Given the description of an element on the screen output the (x, y) to click on. 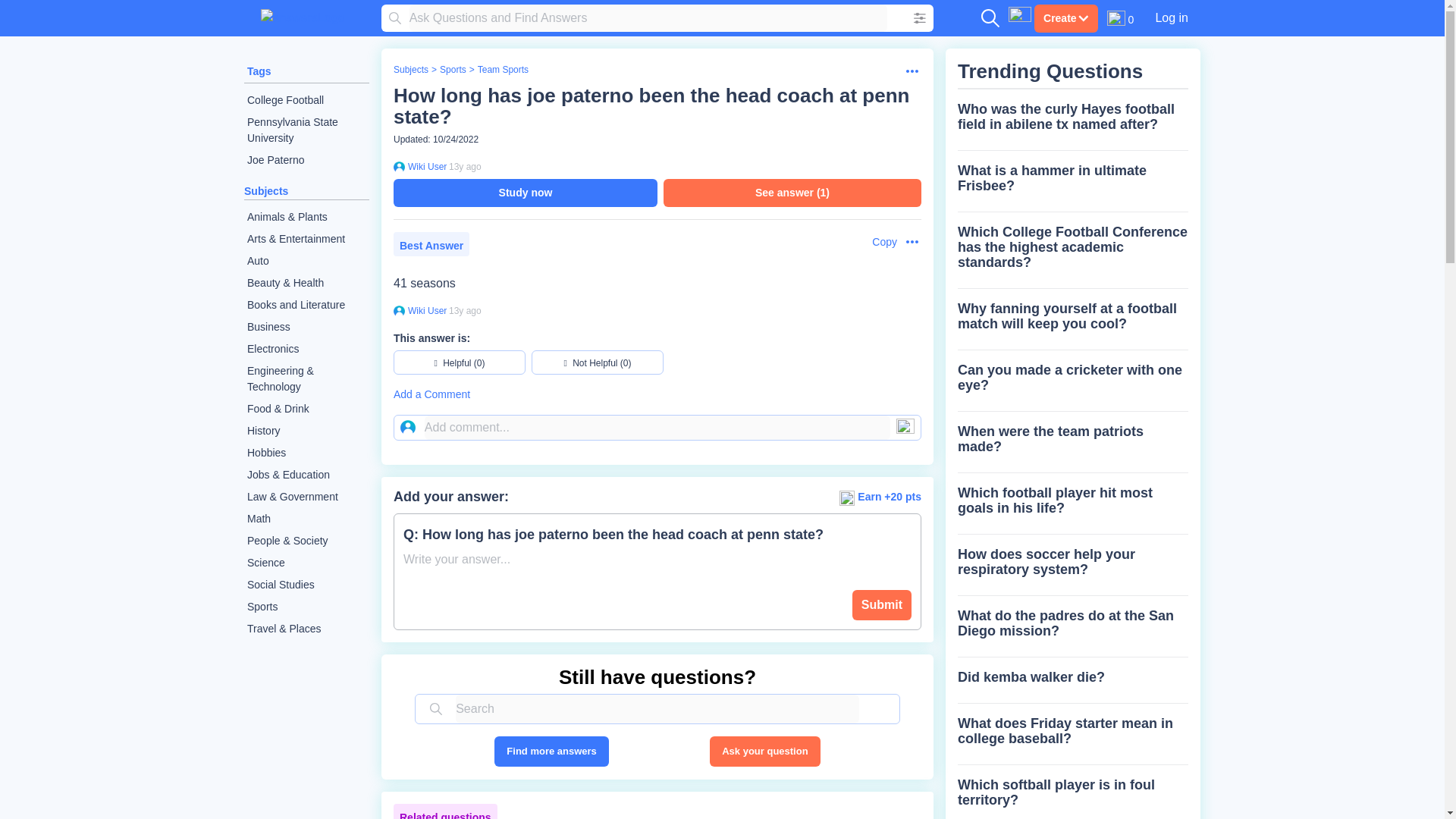
Pennsylvania State University (306, 130)
Wiki User (425, 166)
Team Sports (502, 69)
Electronics (306, 349)
Log in (1170, 17)
Subjects (410, 69)
Math (306, 518)
Copy (876, 242)
Social Studies (306, 585)
Joe Paterno (306, 160)
